Given the description of an element on the screen output the (x, y) to click on. 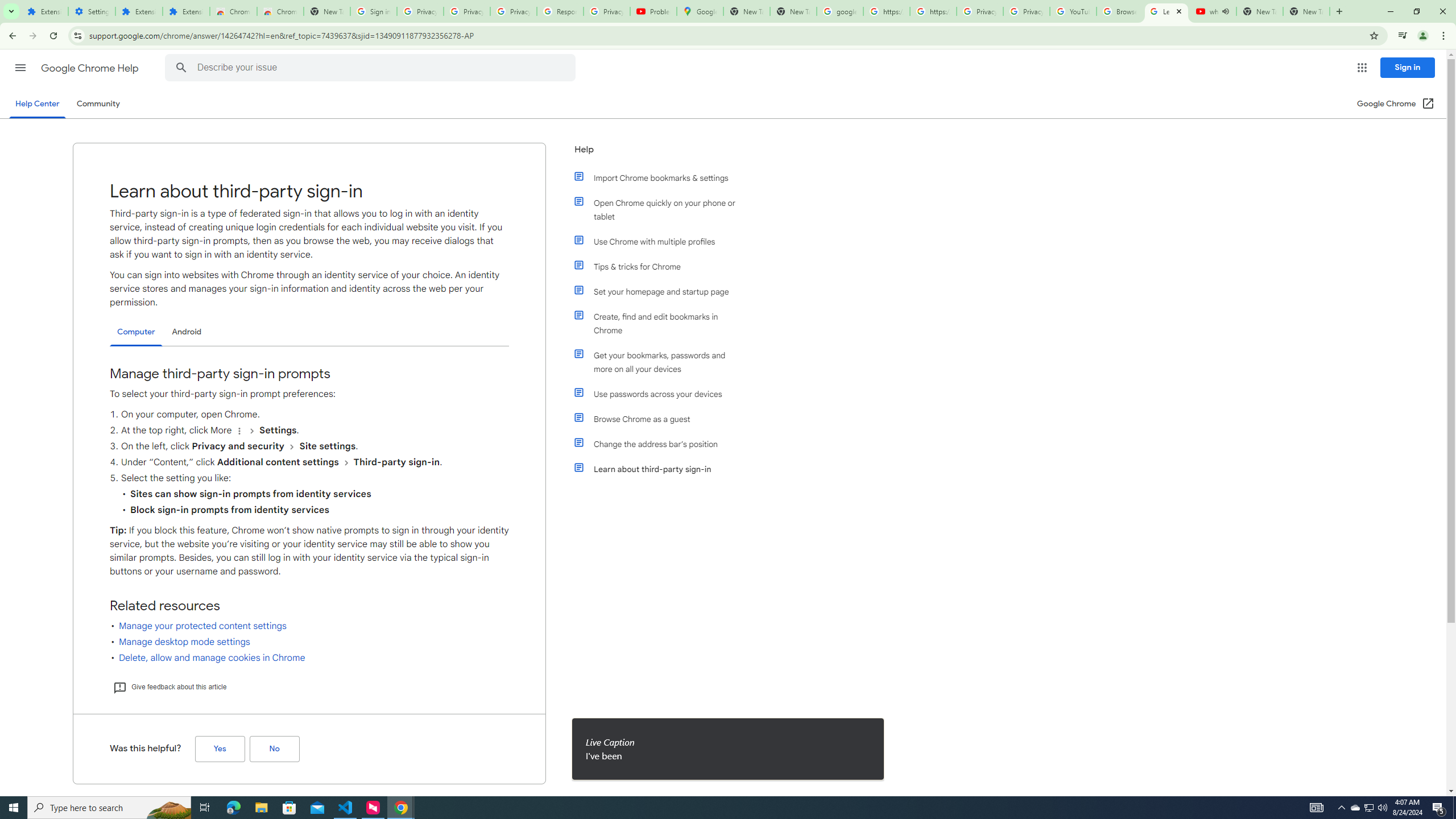
https://scholar.google.com/ (886, 11)
Use passwords across your devices (661, 394)
Sign in - Google Accounts (373, 11)
Google Maps (699, 11)
Google Chrome Help (90, 68)
Manage your protected content settings (202, 626)
Set your homepage and startup page (661, 291)
Chrome Web Store - Themes (279, 11)
Get your bookmarks, passwords and more on all your devices (661, 362)
